Given the description of an element on the screen output the (x, y) to click on. 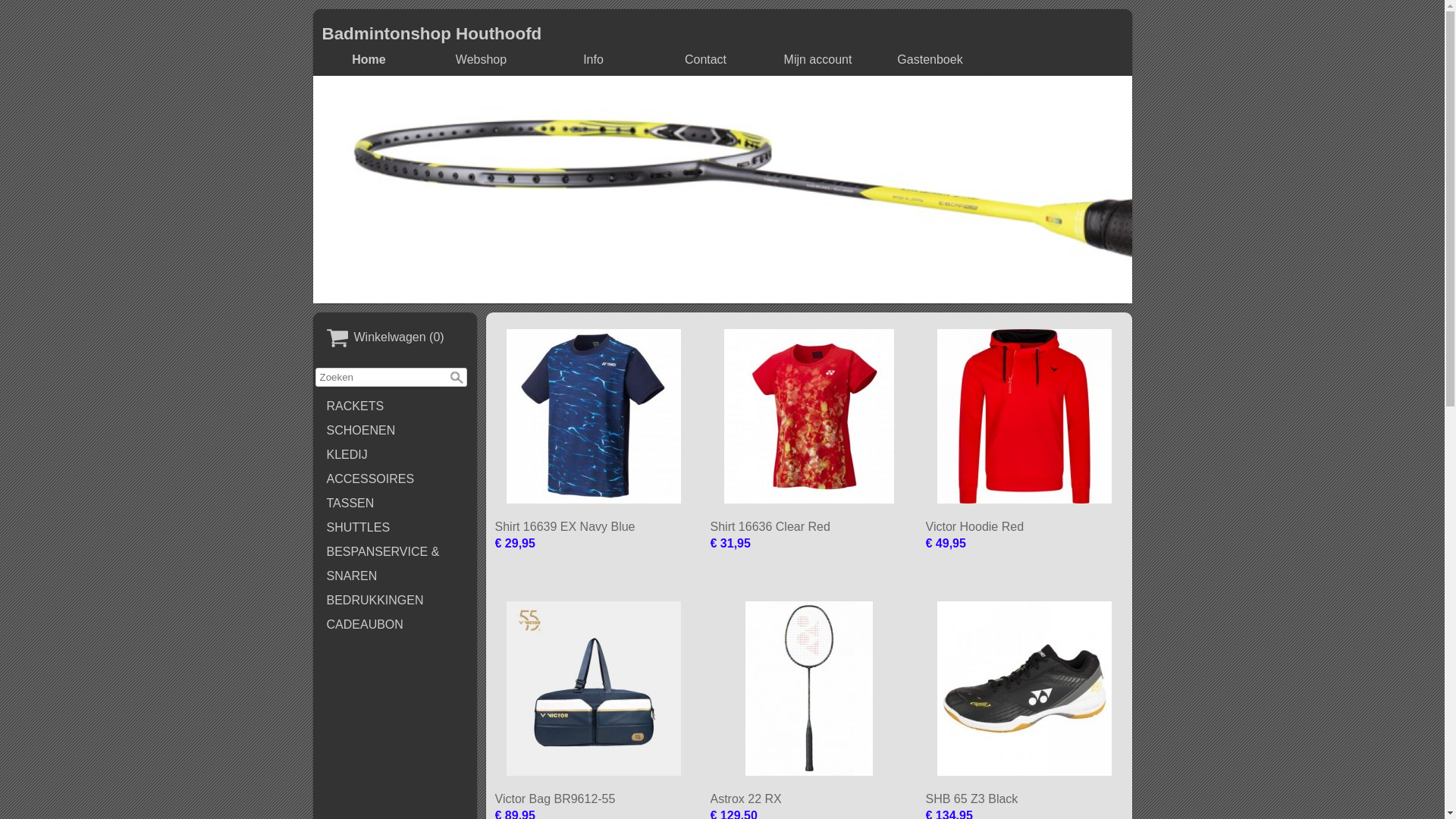
WinkelwagenWinkelwagen (0) Element type: text (394, 337)
Mijn account Element type: text (817, 59)
Badmintonshop Houthoofd Element type: text (431, 33)
Home Element type: text (368, 59)
KLEDIJ Element type: text (394, 454)
BESPANSERVICE & SNAREN Element type: text (394, 563)
BEDRUKKINGEN Element type: text (394, 600)
SHUTTLES Element type: text (394, 527)
Gastenboek Element type: text (930, 59)
Contact Element type: text (705, 59)
RACKETS Element type: text (394, 406)
SCHOENEN Element type: text (394, 430)
CADEAUBON Element type: text (394, 624)
ACCESSOIRES Element type: text (394, 479)
Info Element type: text (593, 59)
TASSEN Element type: text (394, 503)
Webshop Element type: text (481, 59)
